Given the description of an element on the screen output the (x, y) to click on. 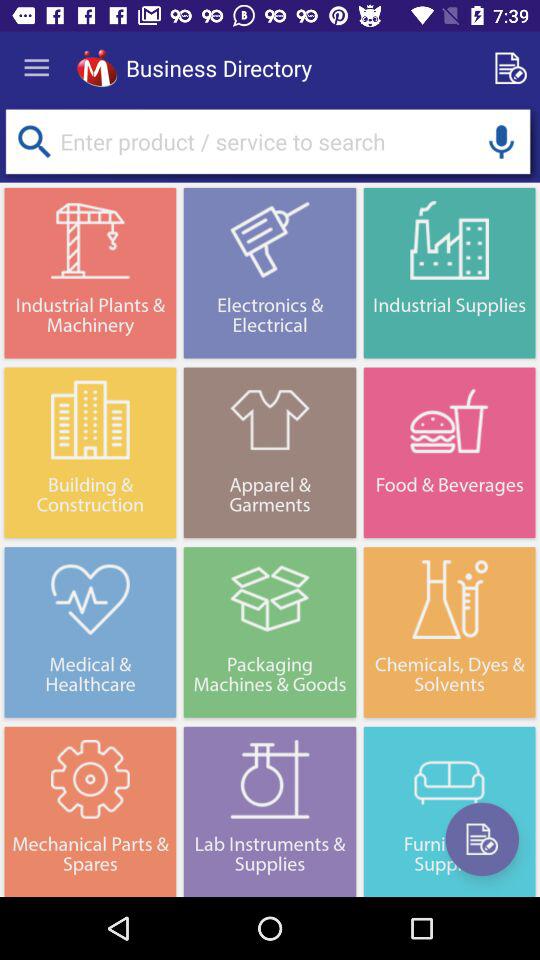
save this item (482, 839)
